Given the description of an element on the screen output the (x, y) to click on. 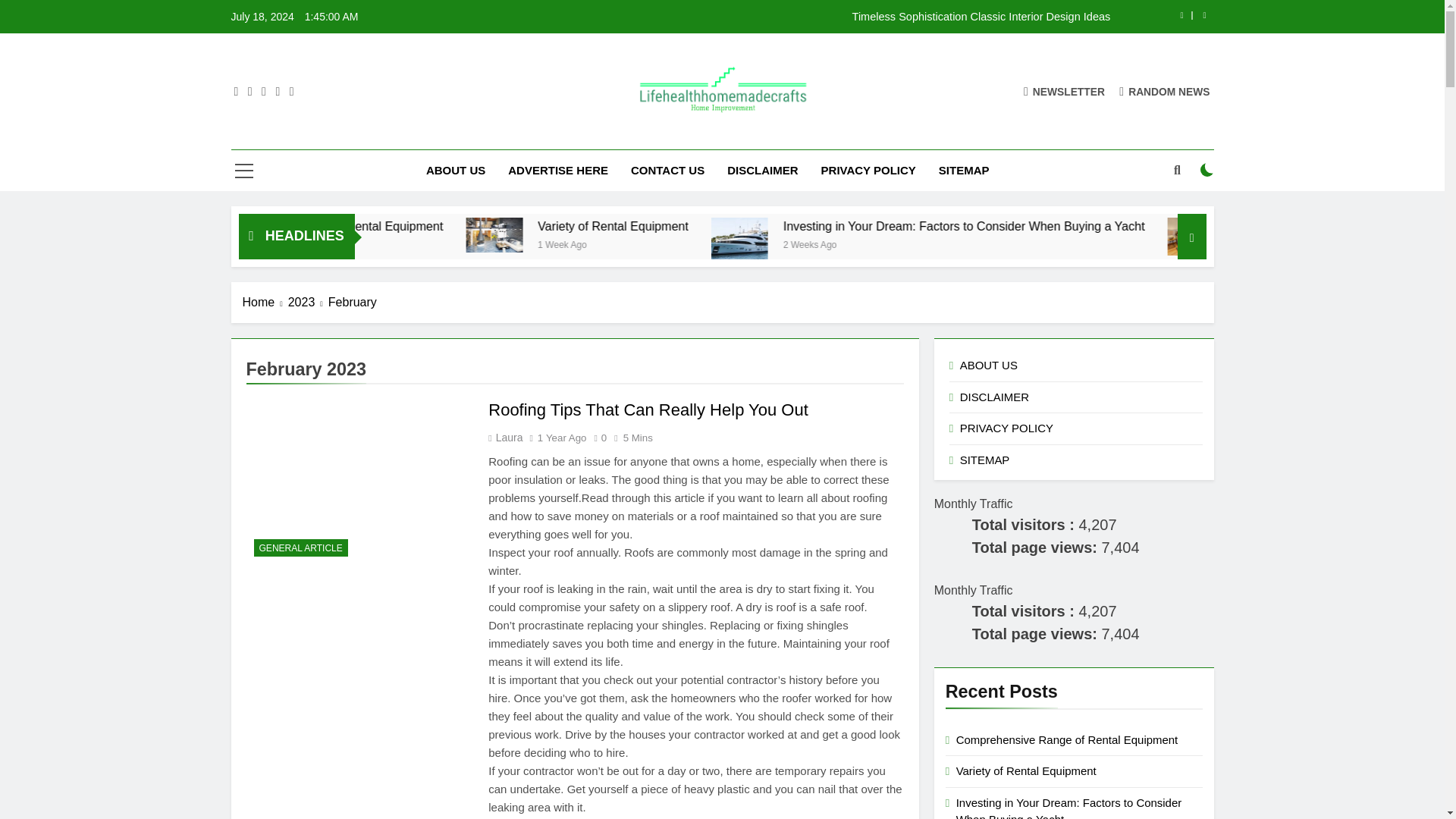
Lifehealthhomemadecrafts (676, 135)
RANDOM NEWS (1164, 91)
NEWSLETTER (1064, 91)
Timeless Sophistication Classic Interior Design Ideas (817, 16)
1 Week Ago (400, 243)
Variety of Rental Equipment (633, 234)
ABOUT US (455, 169)
on (1206, 169)
ADVERTISE HERE (558, 169)
Variety of Rental Equipment (778, 226)
Variety of Rental Equipment (750, 226)
Timeless Sophistication Classic Interior Design Ideas (817, 16)
